Given the description of an element on the screen output the (x, y) to click on. 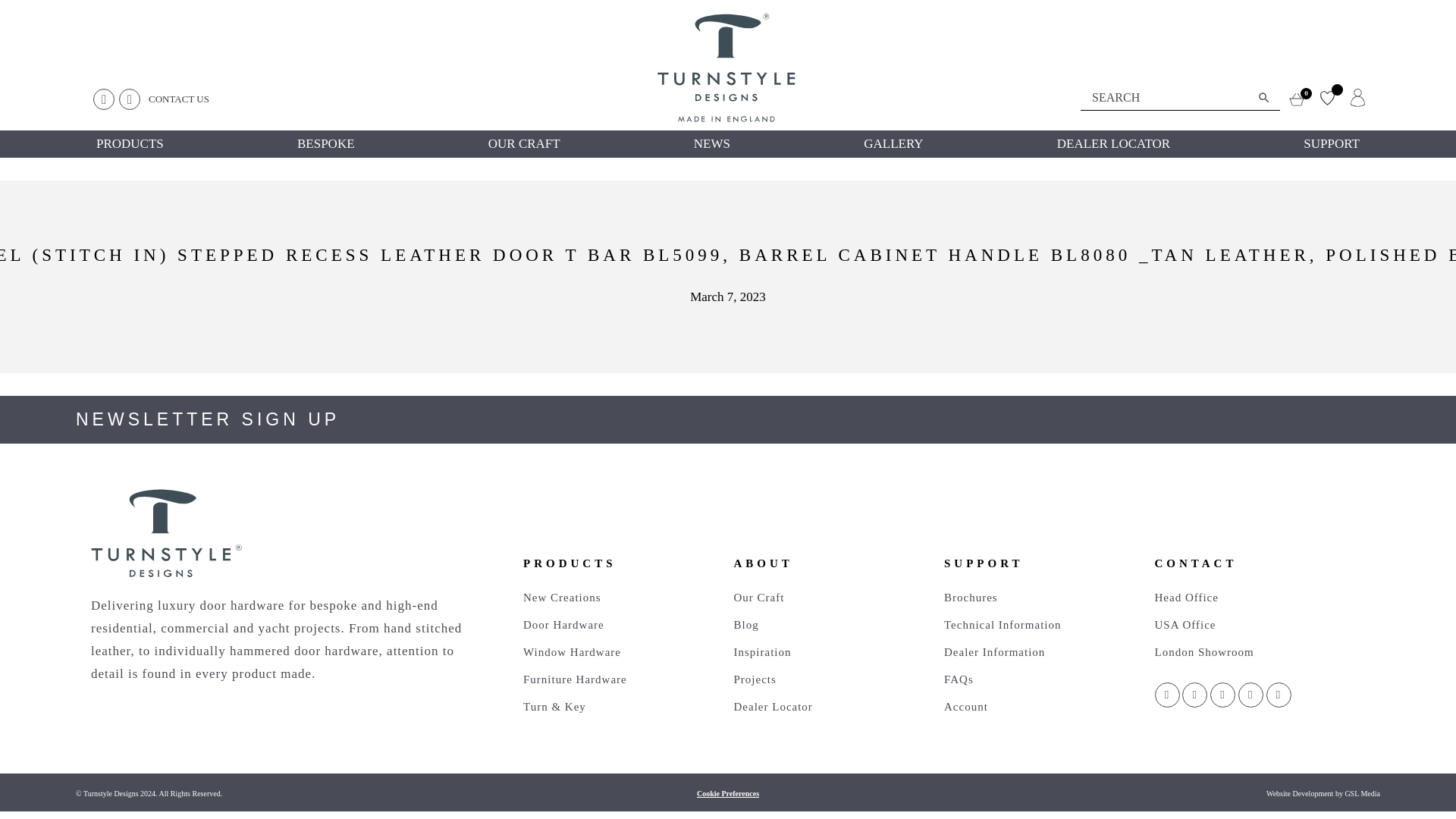
My Basket (1302, 97)
